Given the description of an element on the screen output the (x, y) to click on. 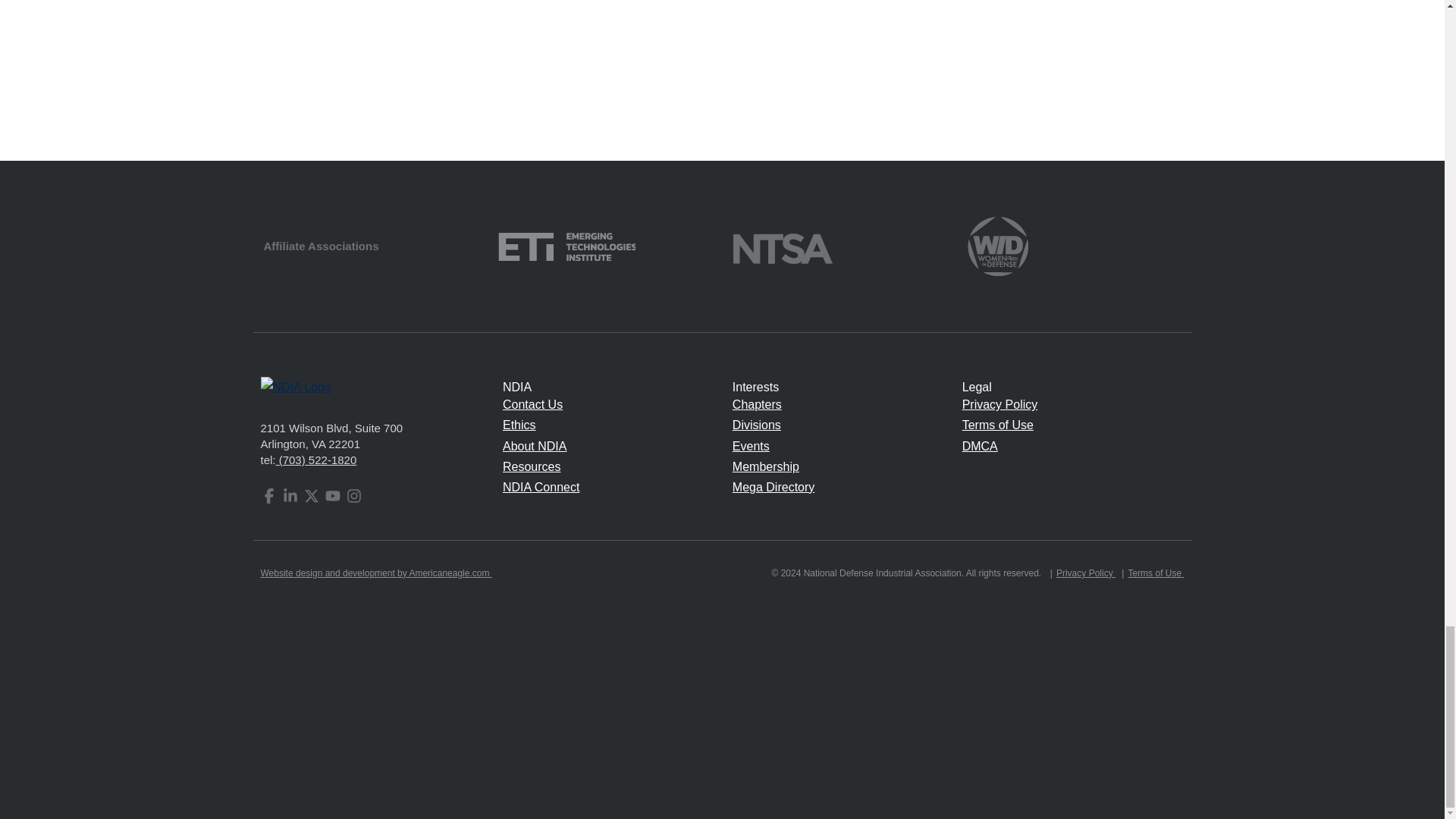
3rd party ad content (722, 69)
YouTube (331, 495)
Instagram (353, 495)
Facebook (268, 495)
About NDIA (534, 445)
LinkedIn (289, 495)
Emerging Technologies Institute (565, 245)
X (310, 495)
Emerging Technologies Institute (565, 245)
WID (997, 245)
